Given the description of an element on the screen output the (x, y) to click on. 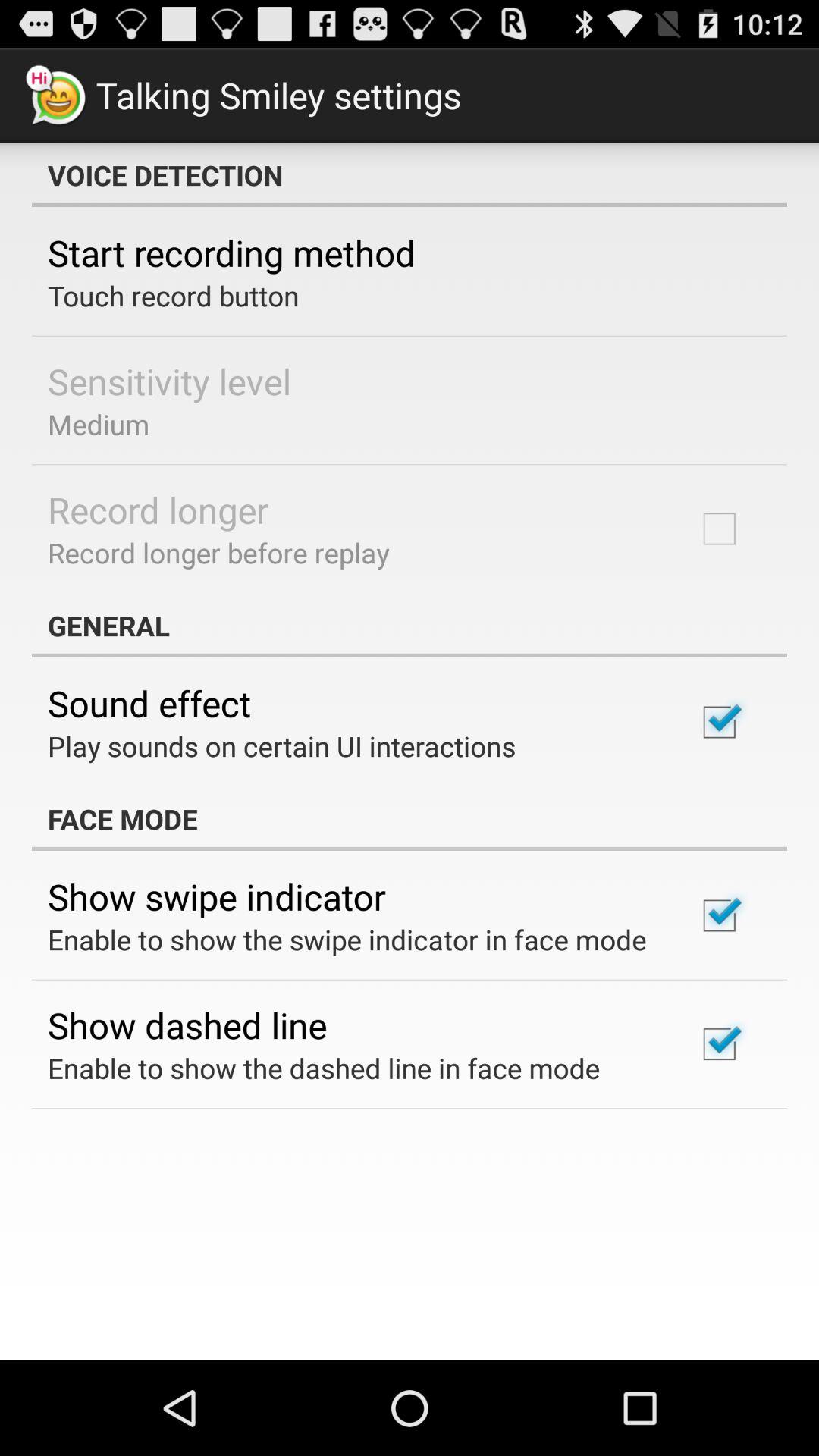
swipe to medium app (98, 424)
